Given the description of an element on the screen output the (x, y) to click on. 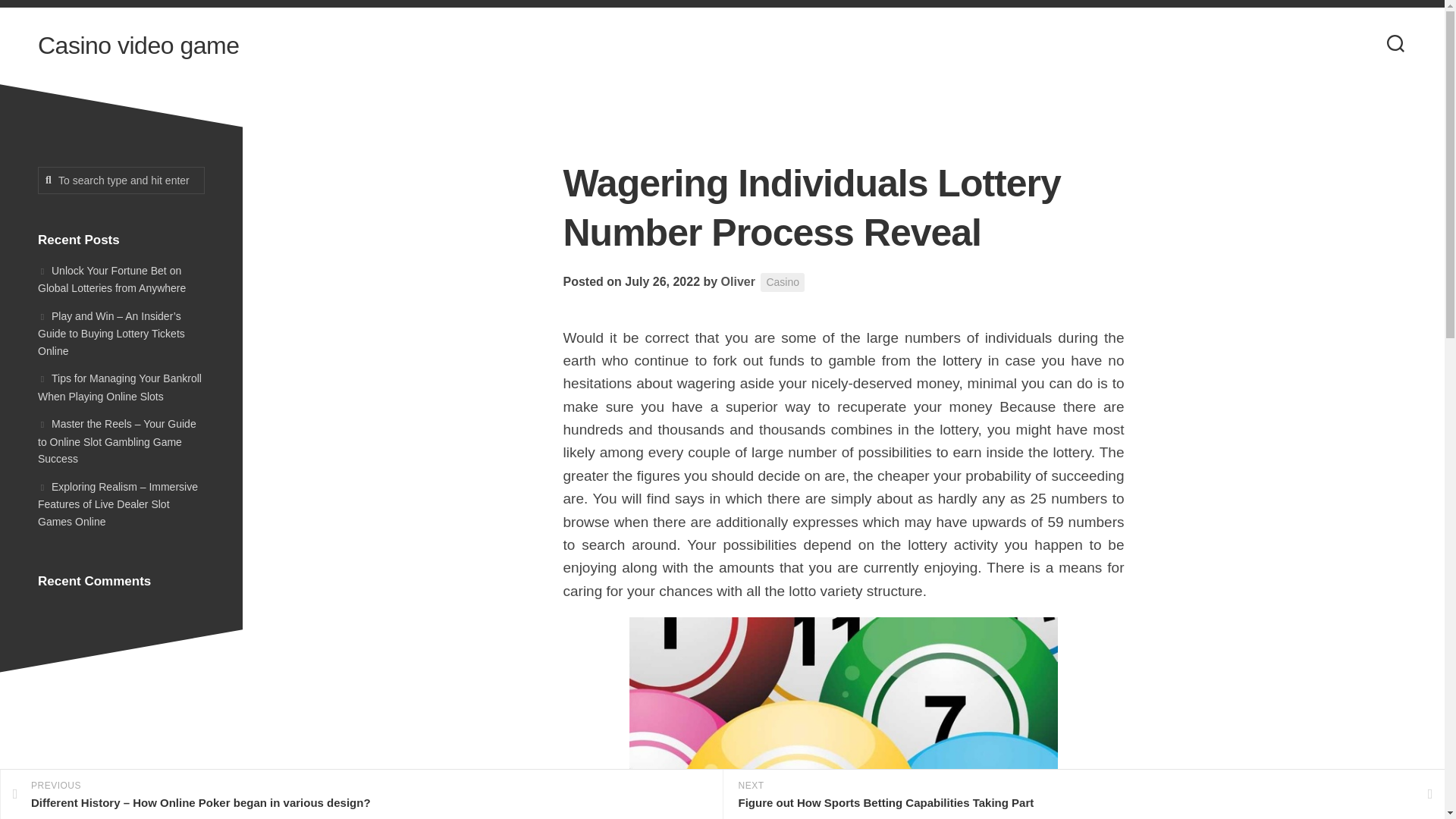
Tips for Managing Your Bankroll When Playing Online Slots (119, 387)
Casino (782, 281)
Posts by Oliver (737, 281)
To search type and hit enter (121, 180)
Oliver (737, 281)
Casino video game (137, 44)
Unlock Your Fortune Bet on Global Lotteries from Anywhere (111, 278)
To search type and hit enter (121, 180)
